Given the description of an element on the screen output the (x, y) to click on. 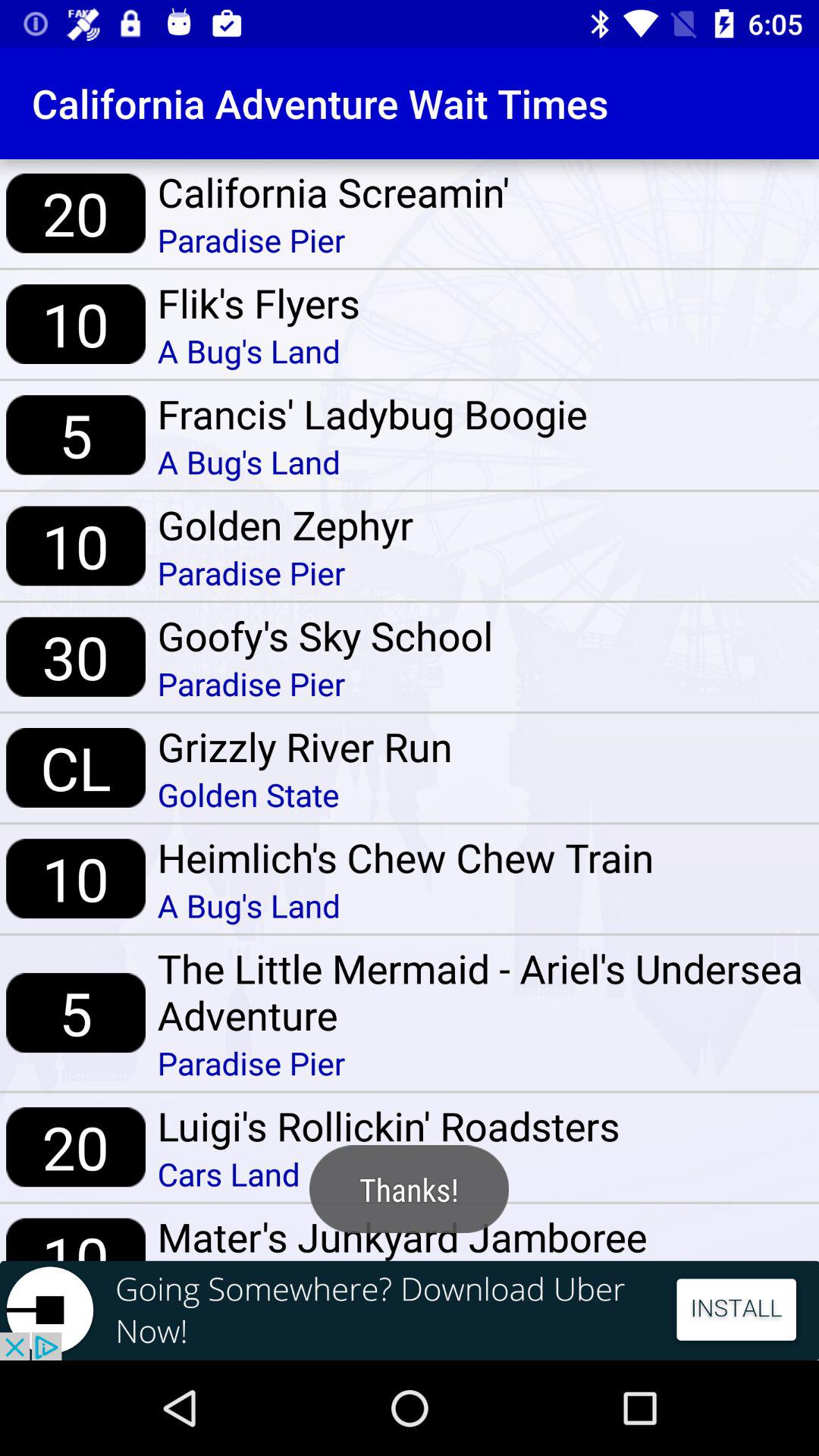
launch the item below paradise pier item (325, 635)
